Given the description of an element on the screen output the (x, y) to click on. 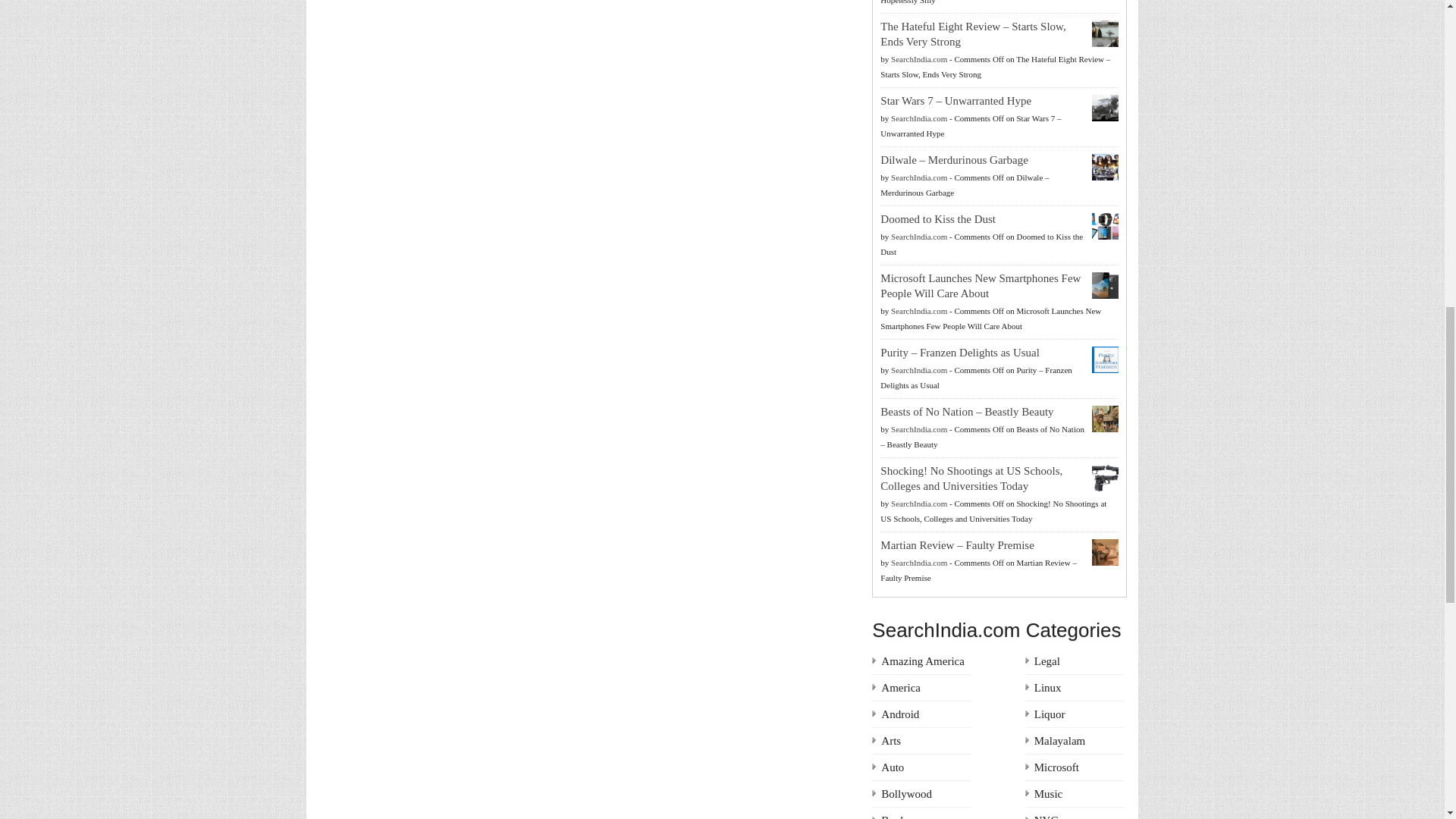
Posts by SearchIndia.com (919, 58)
